Given the description of an element on the screen output the (x, y) to click on. 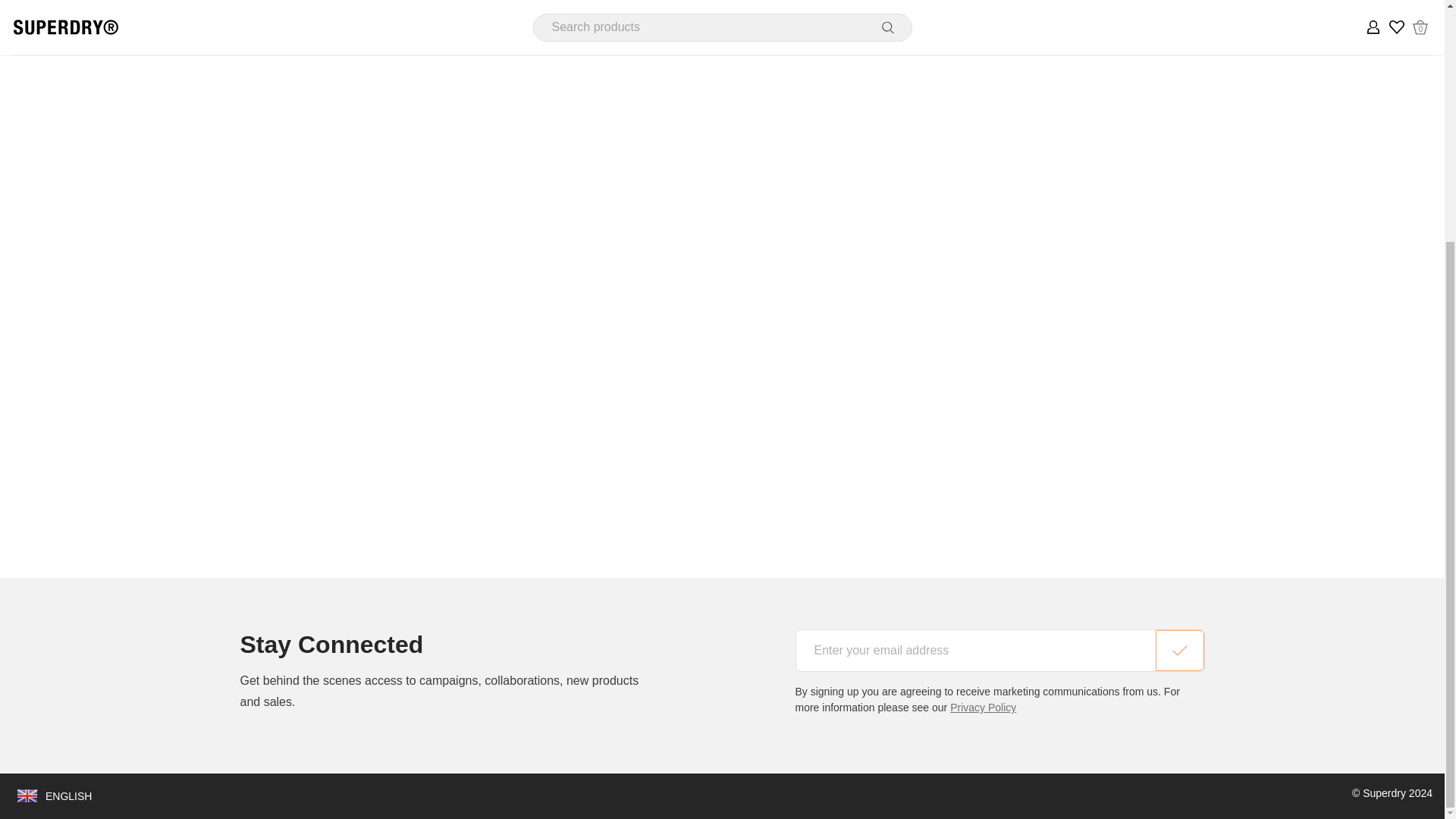
Tick (1180, 650)
ENGLISH (53, 795)
Privacy Policy (983, 707)
